Given the description of an element on the screen output the (x, y) to click on. 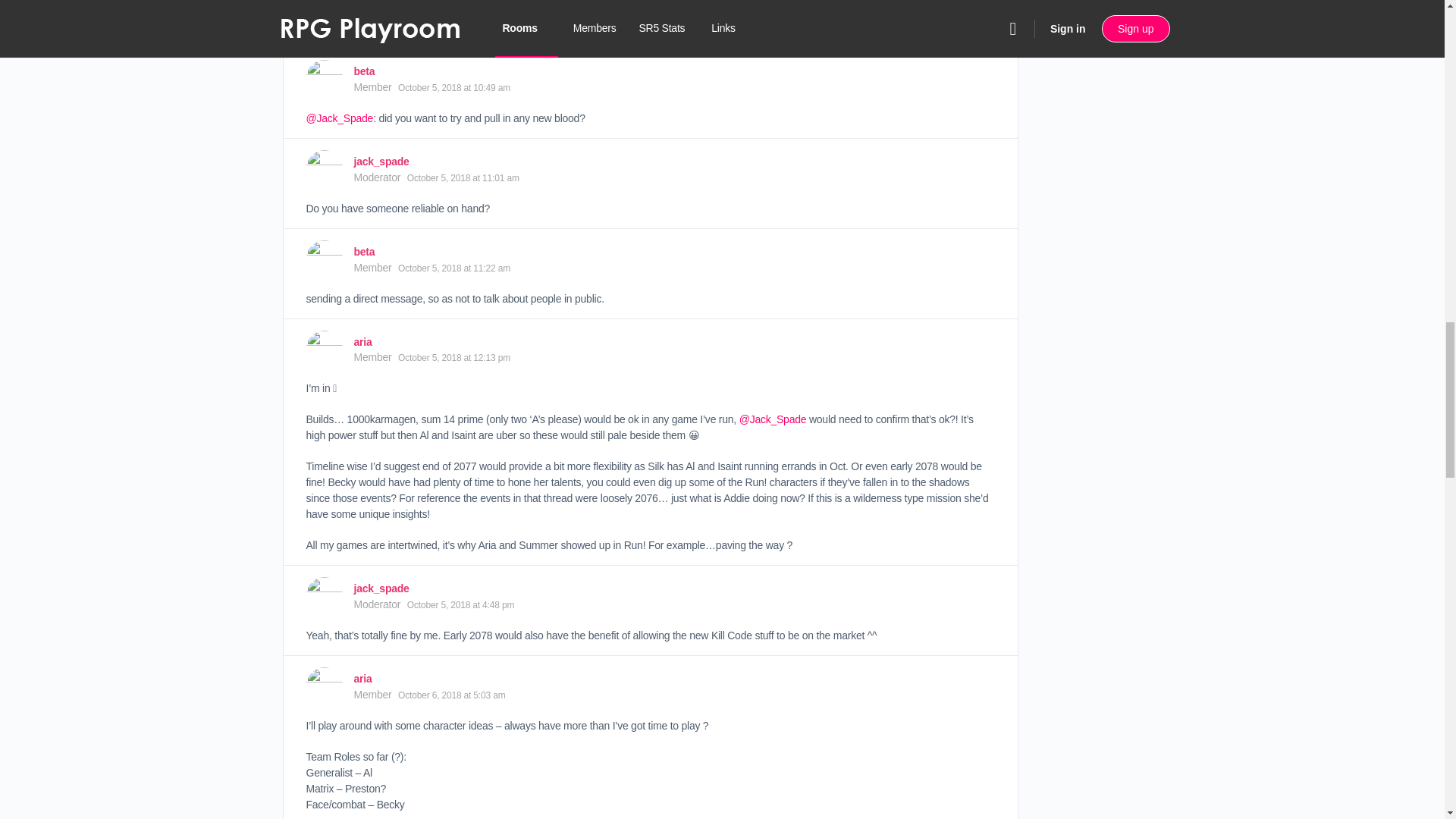
View gilga's profile (323, 2)
View beta's profile (363, 70)
View beta's profile (323, 77)
